Given the description of an element on the screen output the (x, y) to click on. 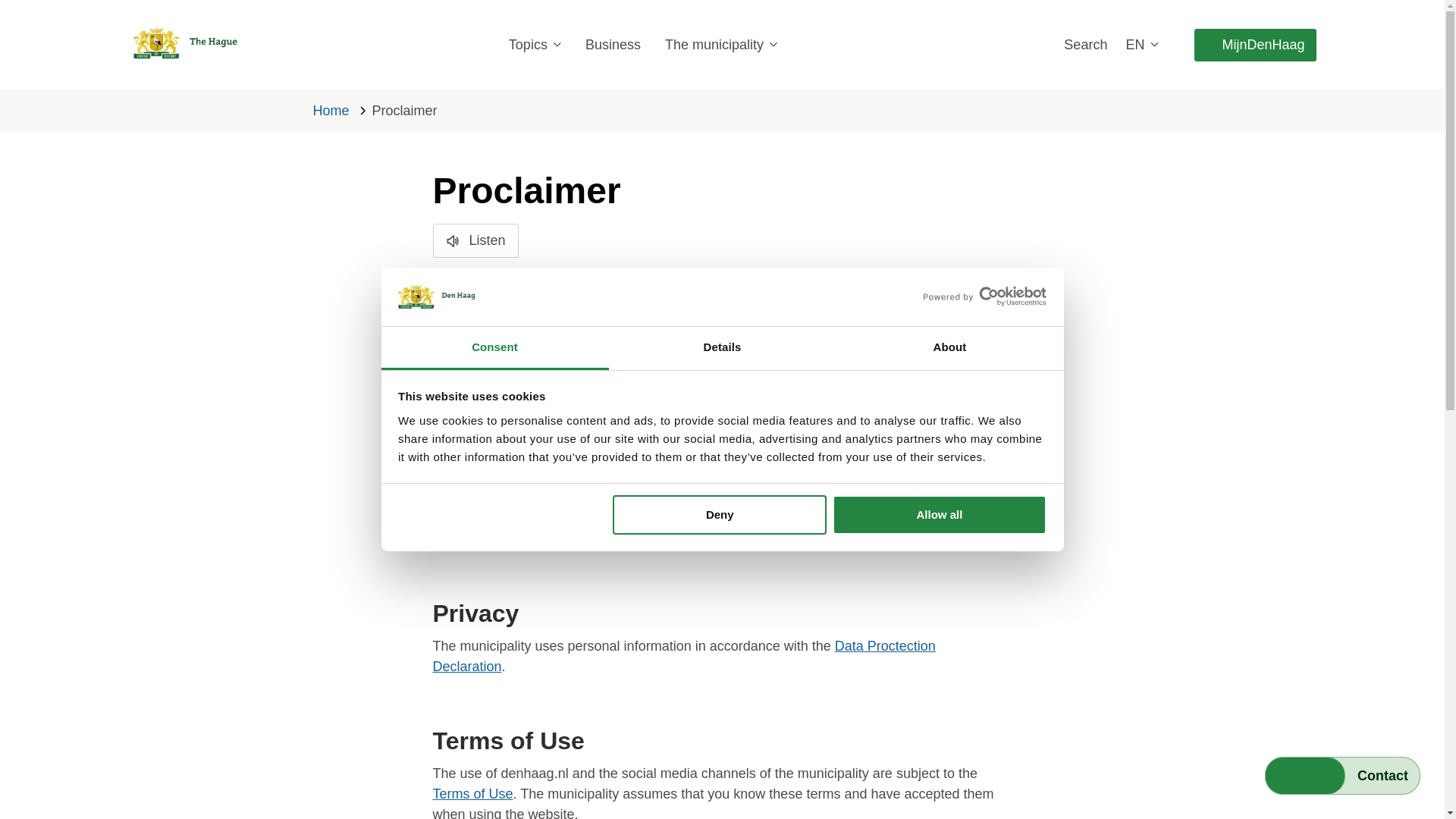
Details (721, 348)
Consent (494, 348)
Onderwerpen (534, 44)
About (948, 348)
